Given the description of an element on the screen output the (x, y) to click on. 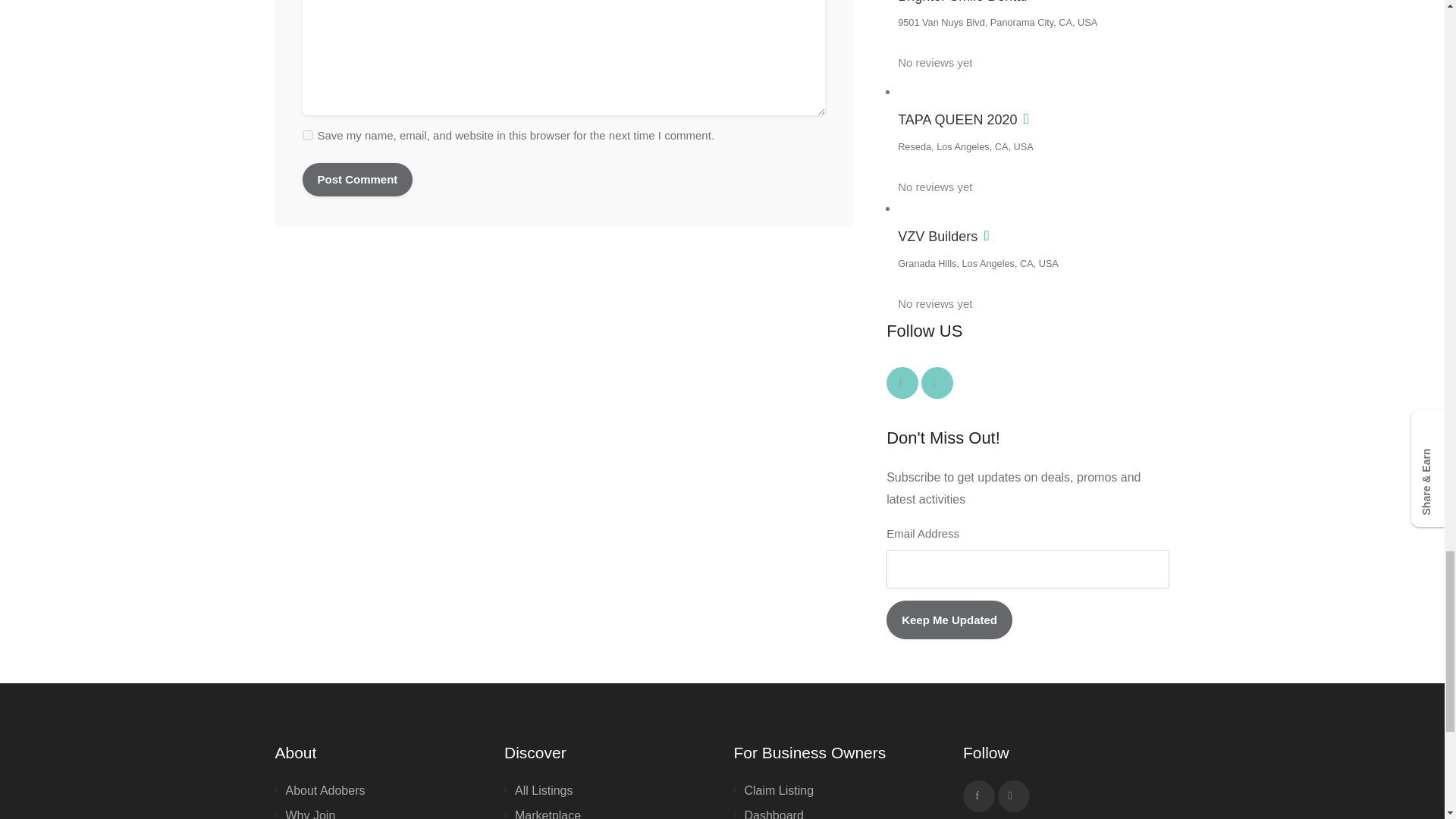
Post Comment (356, 179)
yes (307, 135)
Keep Me Updated (948, 619)
